Given the description of an element on the screen output the (x, y) to click on. 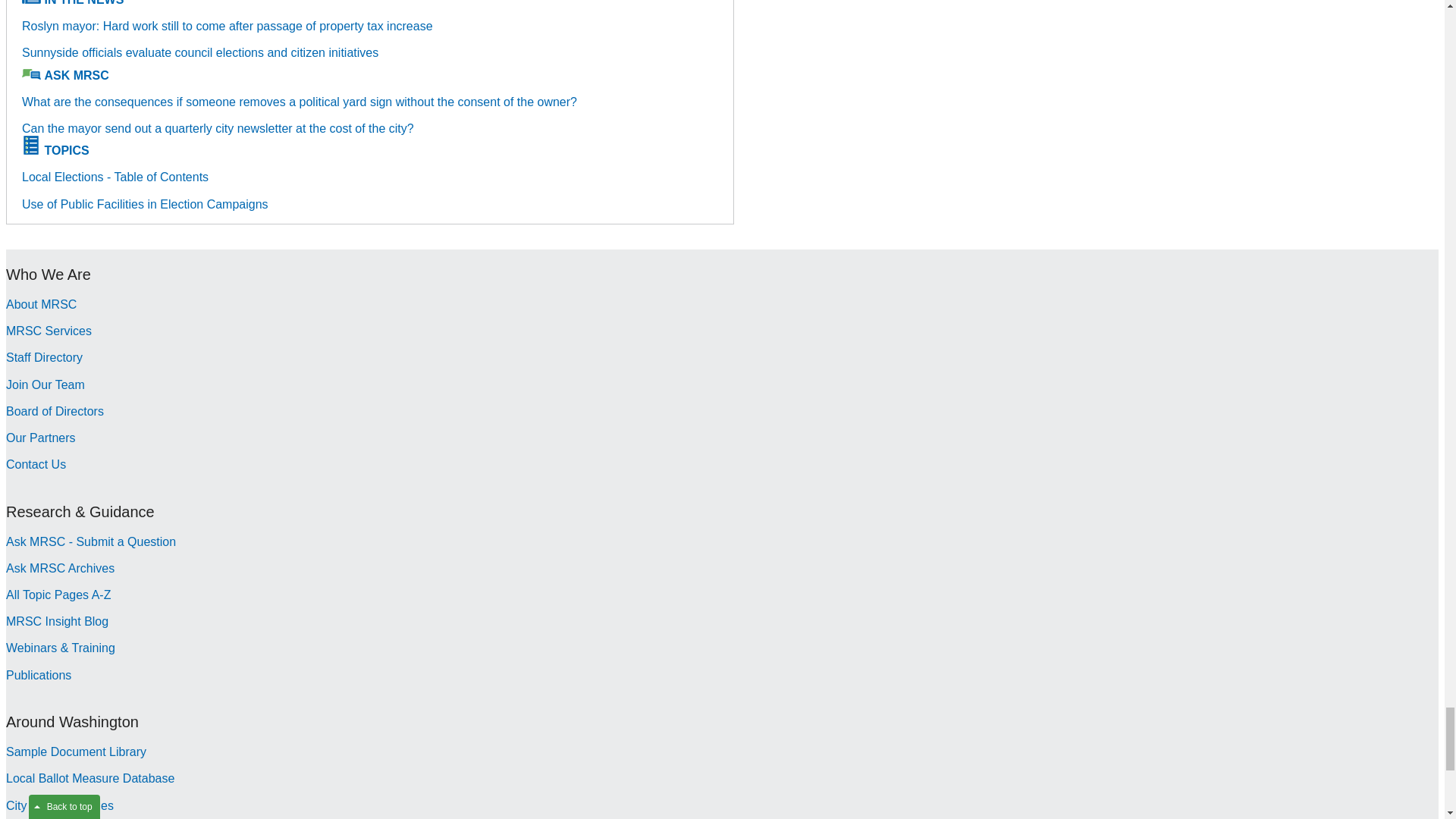
TOPICS section (65, 150)
ASK MRSC section (75, 74)
IN THE NEWS section (83, 2)
